Given the description of an element on the screen output the (x, y) to click on. 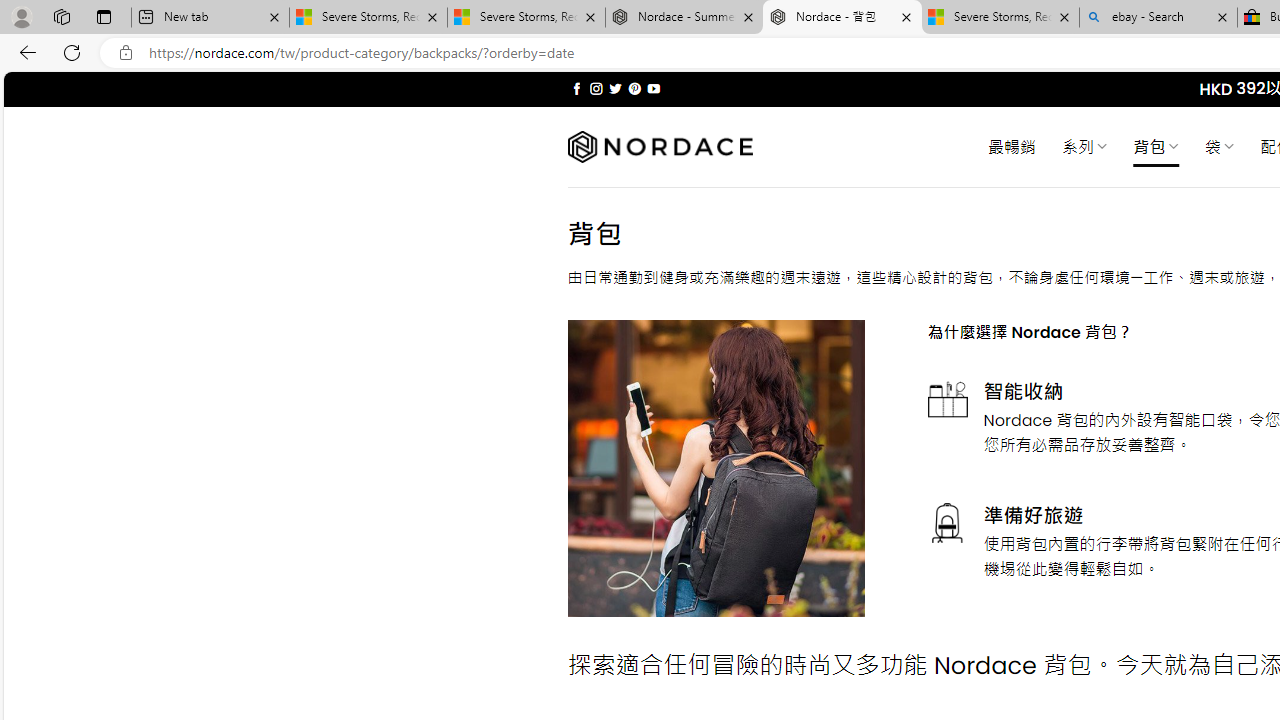
Follow on Twitter (615, 88)
Follow on Facebook (576, 88)
ebay - Search (1158, 17)
Tab actions menu (104, 16)
View site information (125, 53)
New tab (210, 17)
Follow on Pinterest (634, 88)
Personal Profile (21, 16)
Nordace (659, 147)
Follow on Instagram (596, 88)
